Given the description of an element on the screen output the (x, y) to click on. 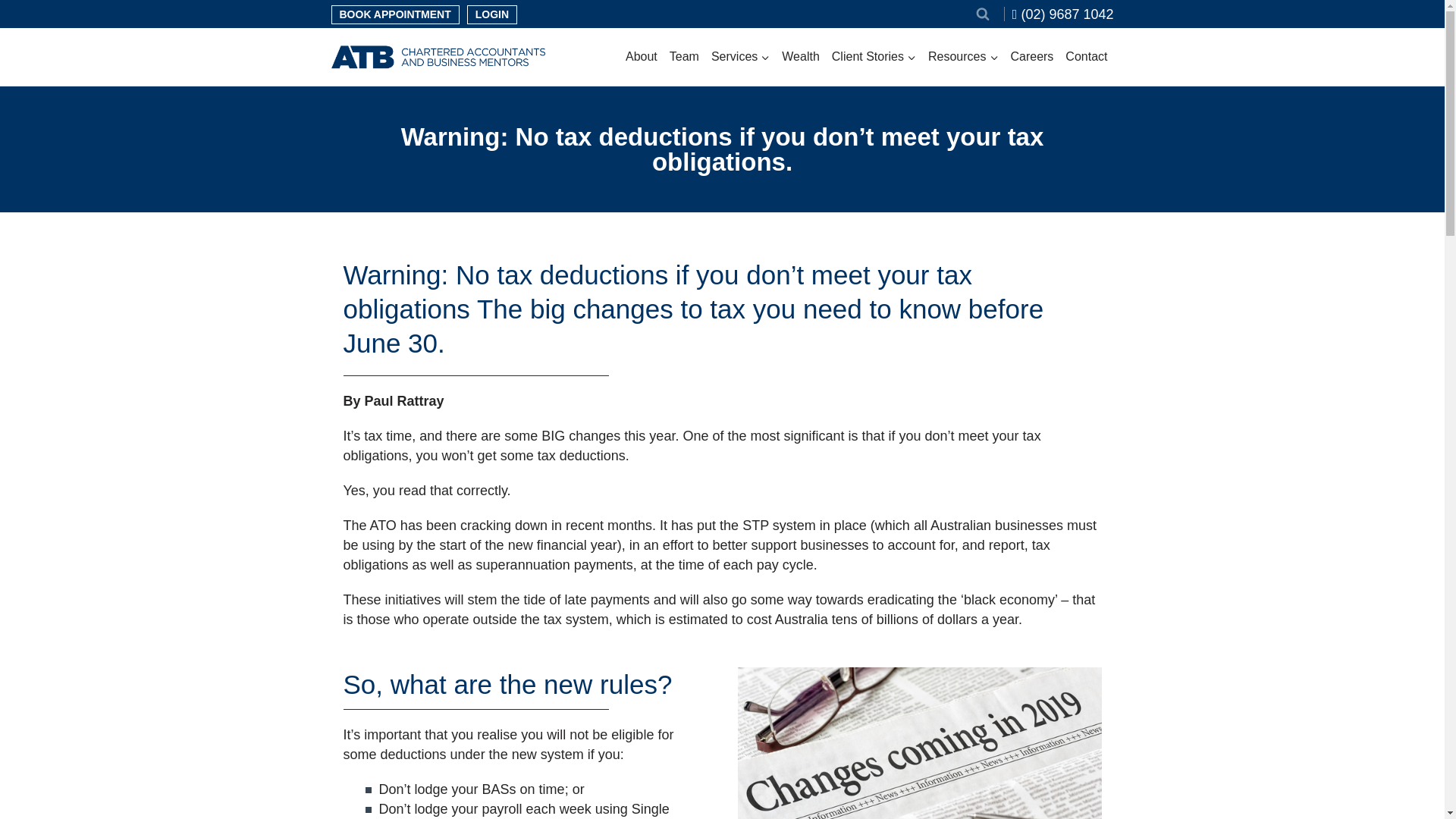
BOOK APPOINTMENT (394, 13)
Client Stories (873, 56)
Contact (1086, 56)
Careers (1031, 56)
Services (740, 56)
About (641, 56)
Resources (962, 56)
LOGIN (491, 13)
Wealth (800, 56)
Team (683, 56)
